Given the description of an element on the screen output the (x, y) to click on. 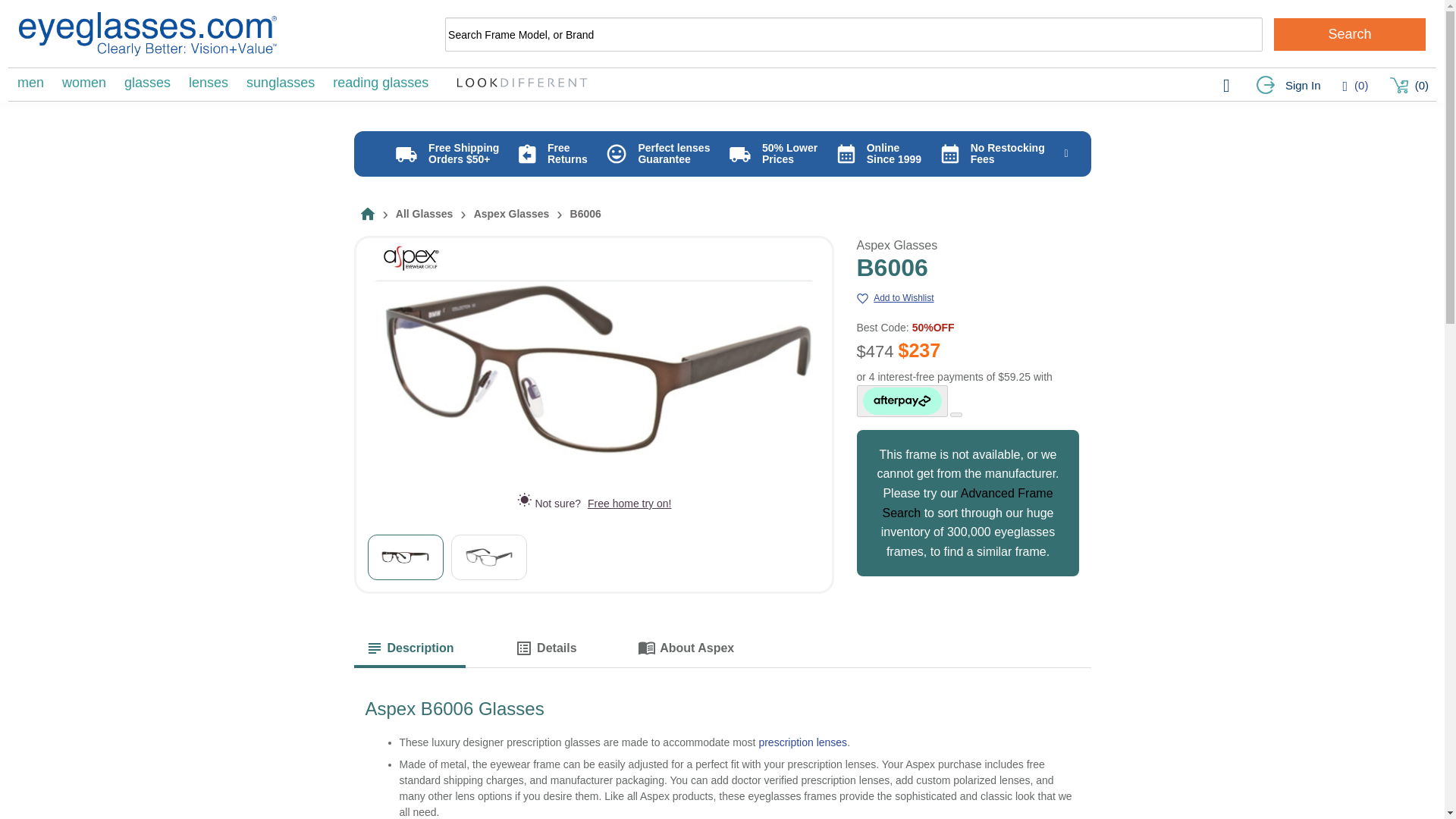
Shopping Cart (1409, 85)
Search (1349, 34)
men (30, 82)
Search (1349, 34)
Eyeglasses.com (147, 34)
Sign In (1288, 86)
  Sign In (1288, 86)
Wishlist (1355, 85)
